Given the description of an element on the screen output the (x, y) to click on. 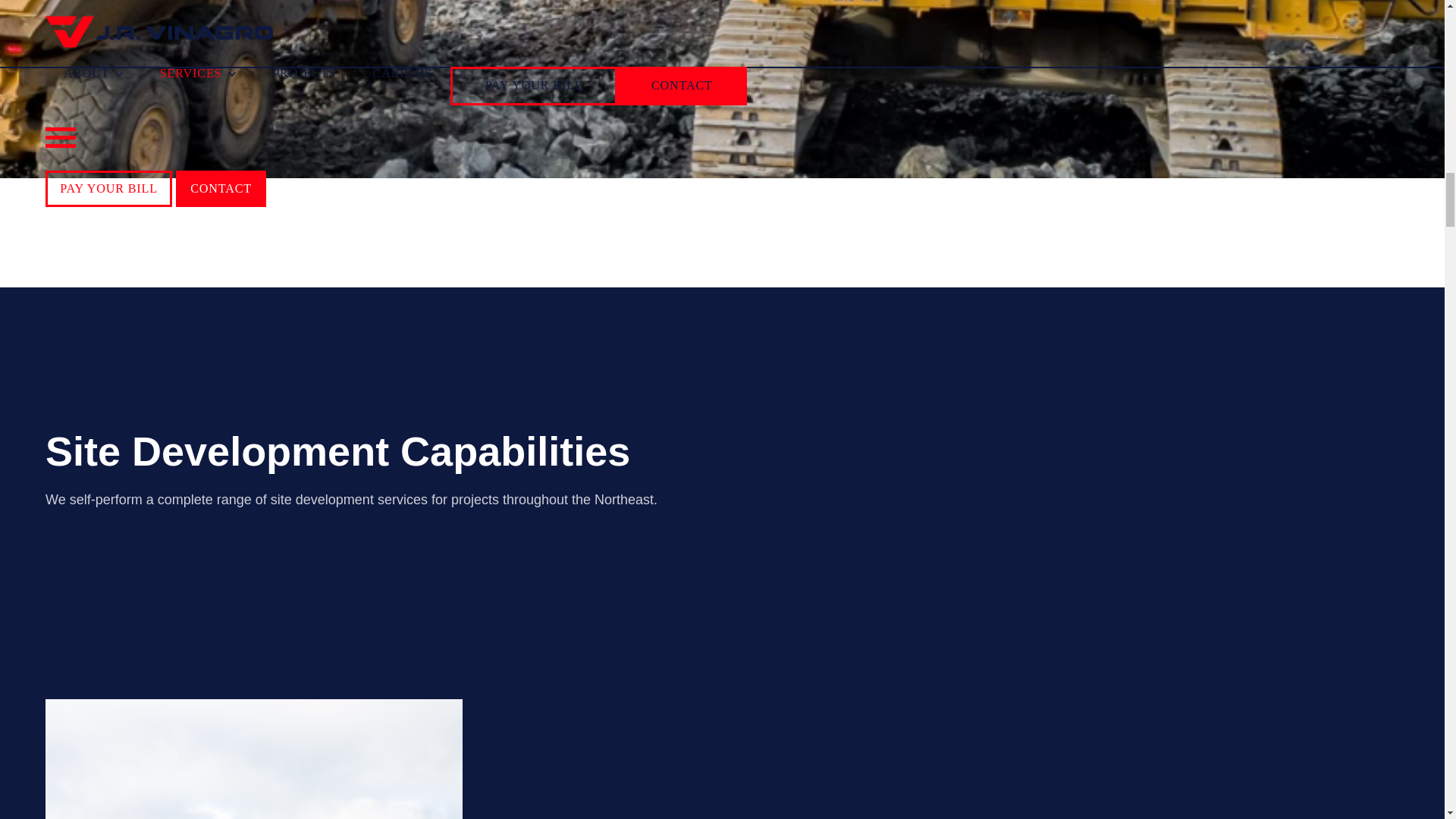
CONTACT US (106, 48)
